Given the description of an element on the screen output the (x, y) to click on. 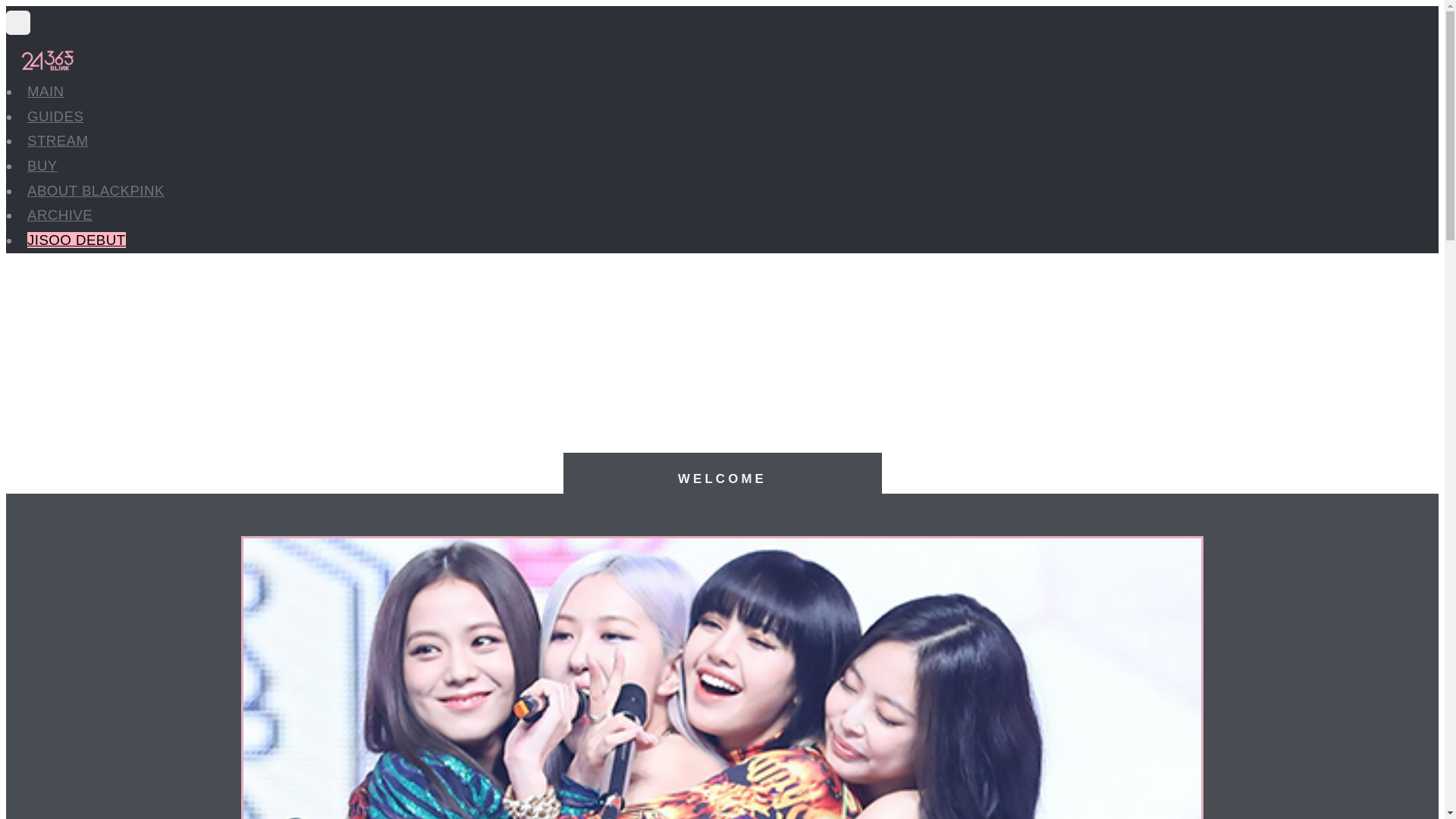
MAIN Element type: text (45, 91)
ABOUT BLACKPINK Element type: text (95, 190)
STREAM Element type: text (57, 140)
BUY Element type: text (42, 165)
JISOO DEBUT Element type: text (76, 239)
ARCHIVE Element type: text (59, 214)
GUIDES Element type: text (55, 116)
